Given the description of an element on the screen output the (x, y) to click on. 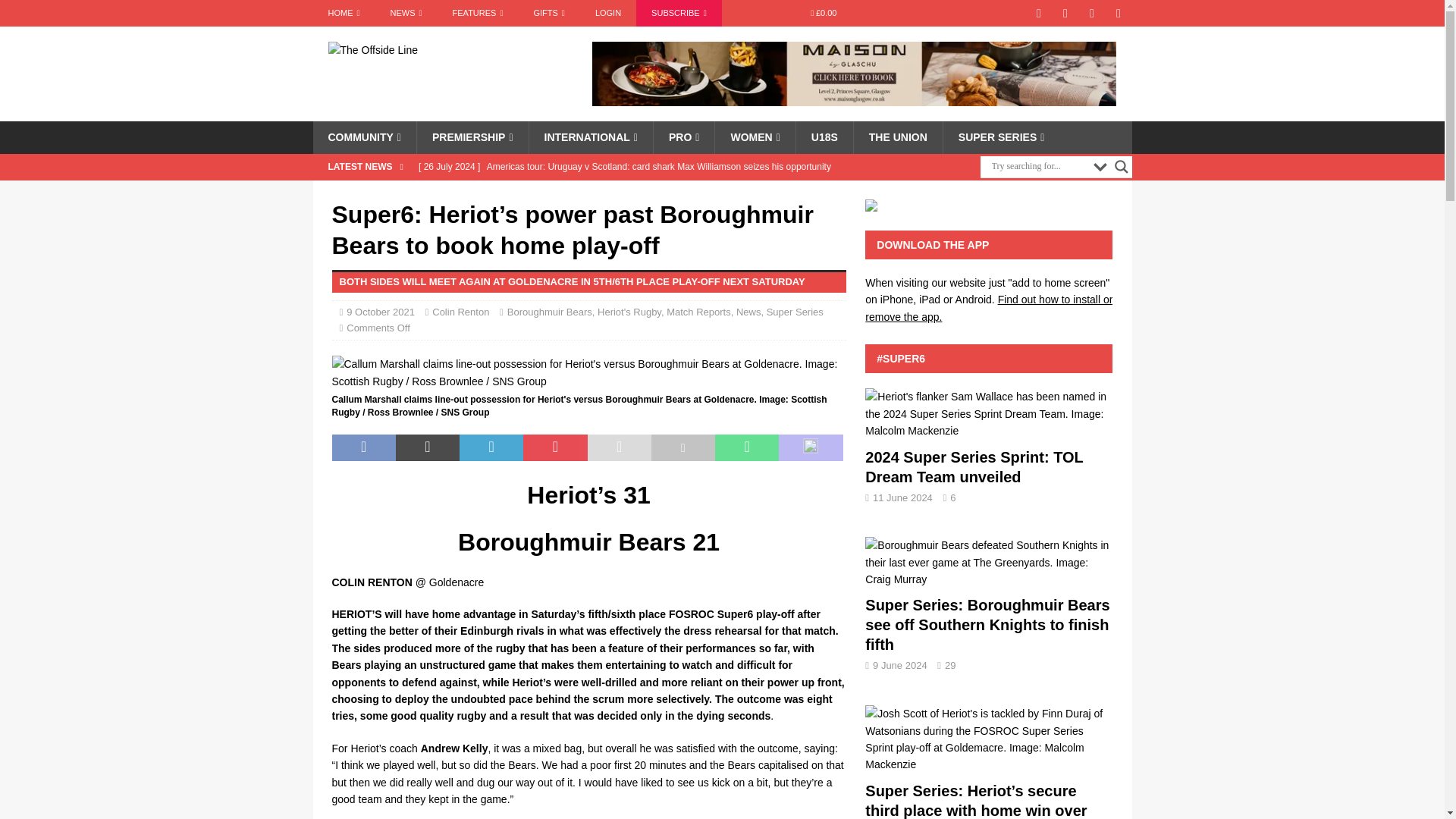
SUBSCRIBE (679, 13)
GIFTS (548, 13)
LOGIN (607, 13)
Scottish rugby news (406, 13)
Scottish Rugby news coverage (343, 13)
NEWS (406, 13)
HOME (343, 13)
FEATURES (478, 13)
Rugby Gifts (548, 13)
Community rugby in Scotland (363, 137)
Start shopping (822, 13)
PREMIERSHIP (472, 137)
COMMUNITY (363, 137)
Help us keep it covered this season (679, 13)
